Given the description of an element on the screen output the (x, y) to click on. 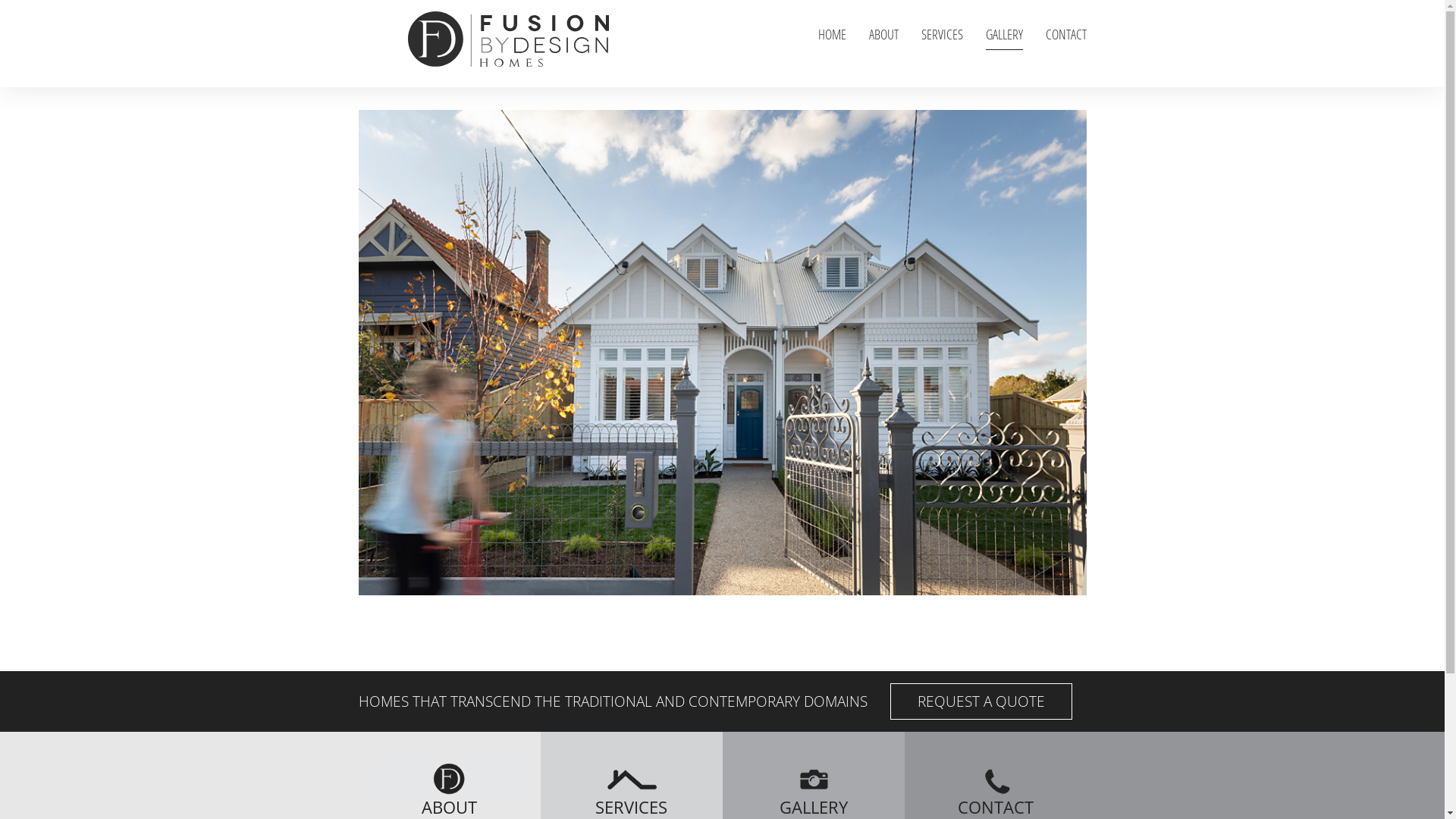
REQUEST A QUOTE Element type: text (981, 701)
GALLERY Element type: text (1003, 34)
ABOUT Element type: text (883, 34)
SERVICES Element type: text (941, 34)
Fusion By Design Element type: text (507, 49)
CONTACT Element type: text (1064, 34)
HOME Element type: text (831, 34)
